Given the description of an element on the screen output the (x, y) to click on. 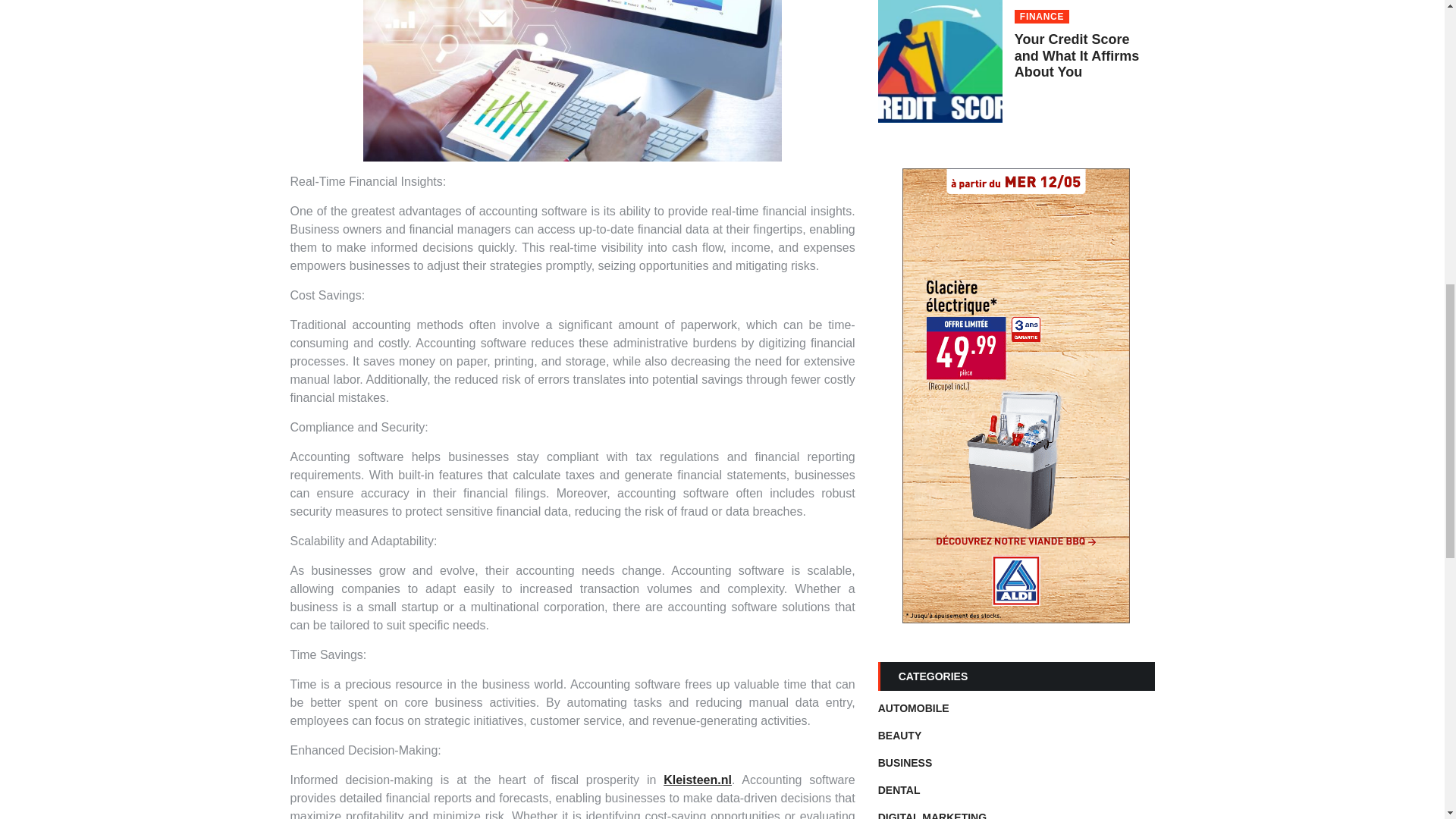
FINANCE (1041, 16)
Your Credit Score and What It Affirms About You (1076, 55)
Kleisteen.nl (697, 779)
